Given the description of an element on the screen output the (x, y) to click on. 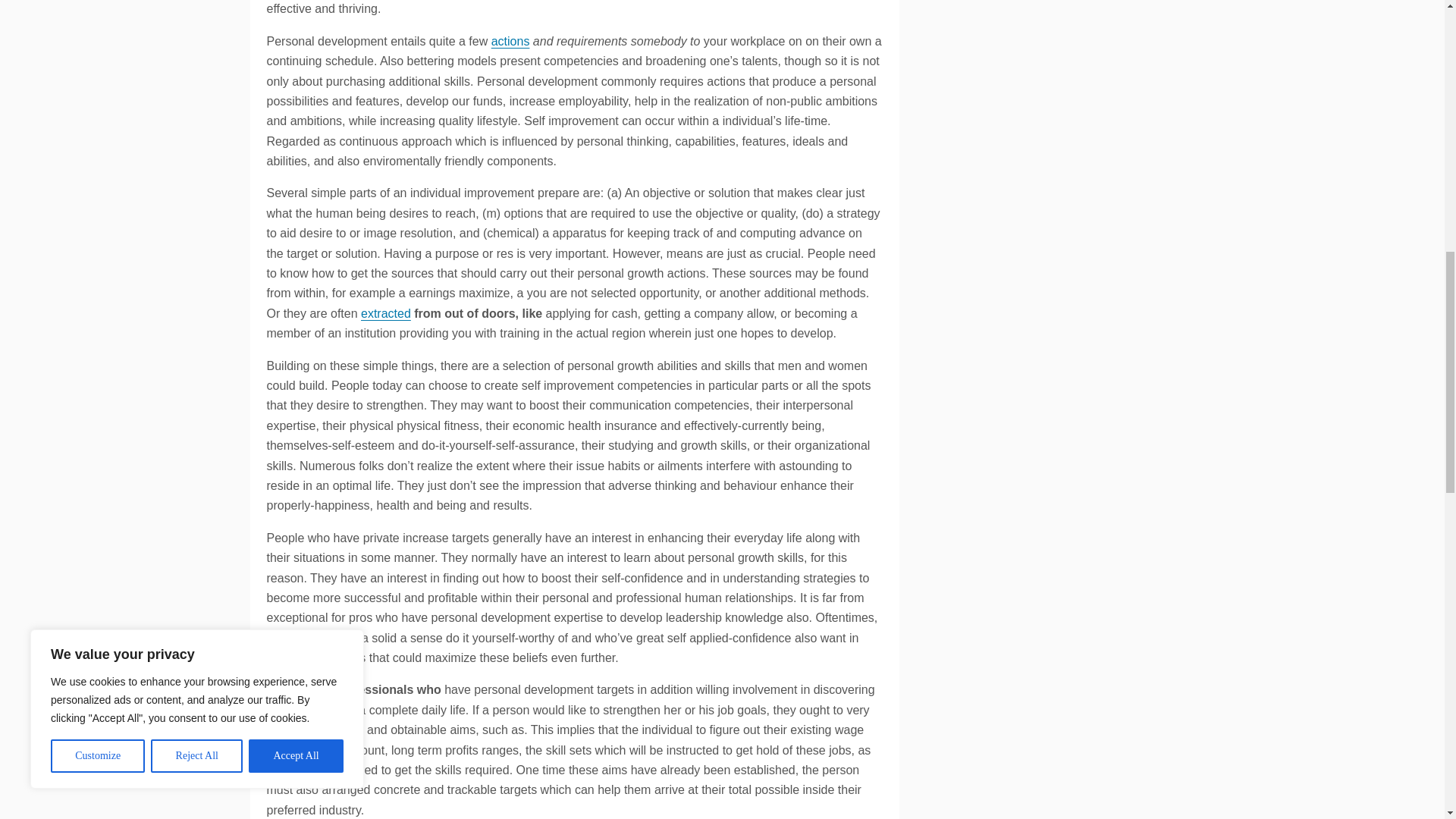
extracted (385, 313)
actions (510, 41)
